Given the description of an element on the screen output the (x, y) to click on. 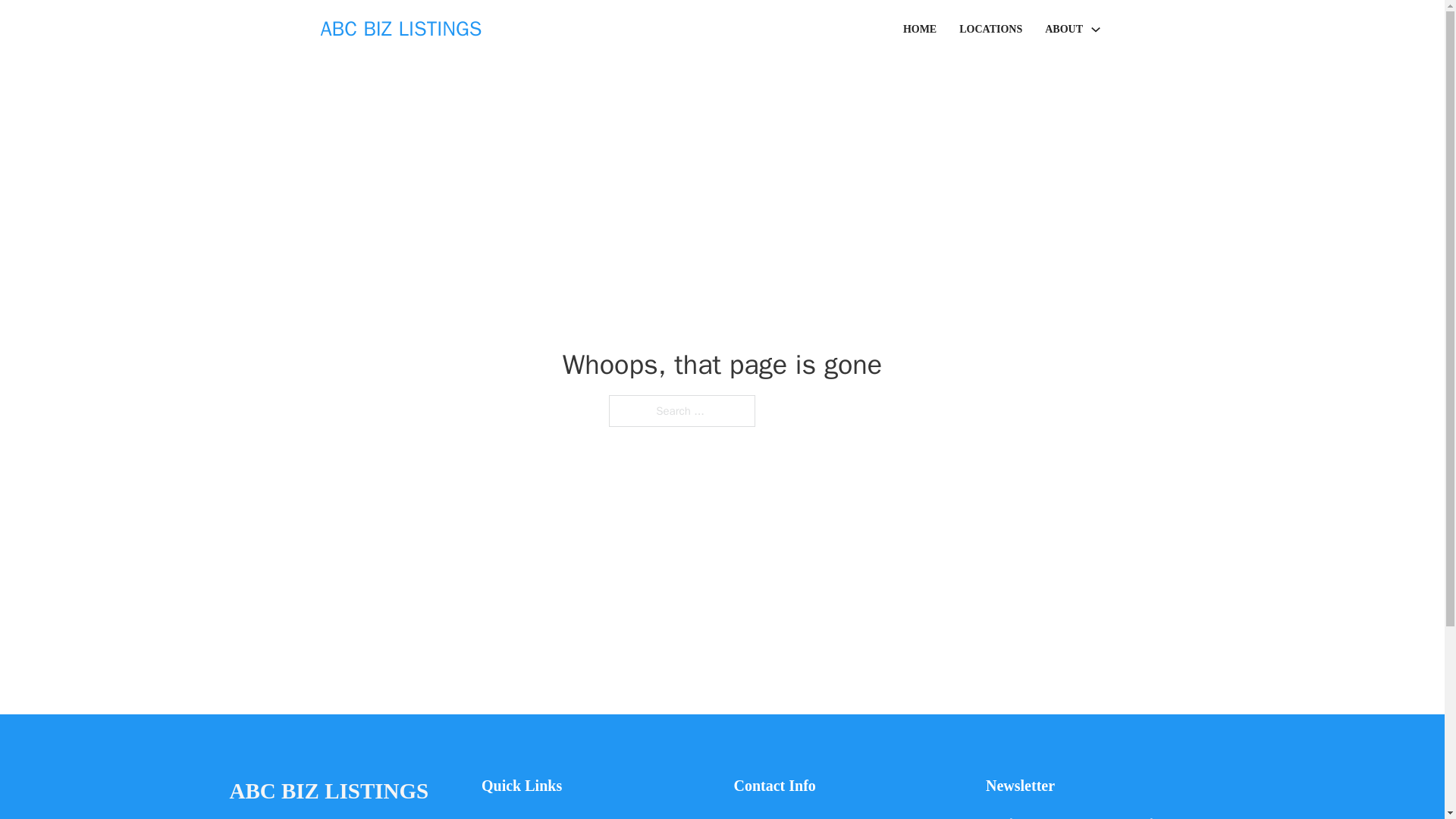
LOCATIONS (990, 29)
ABC BIZ LISTINGS (328, 791)
ABC BIZ LISTINGS (400, 28)
Home (496, 816)
HOME (919, 29)
